Given the description of an element on the screen output the (x, y) to click on. 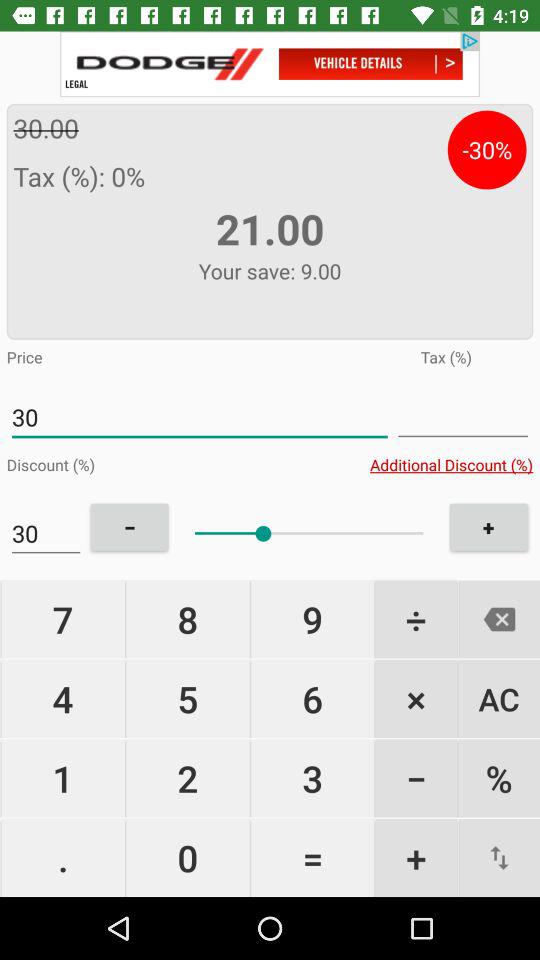
open number keyboard (463, 417)
